Given the description of an element on the screen output the (x, y) to click on. 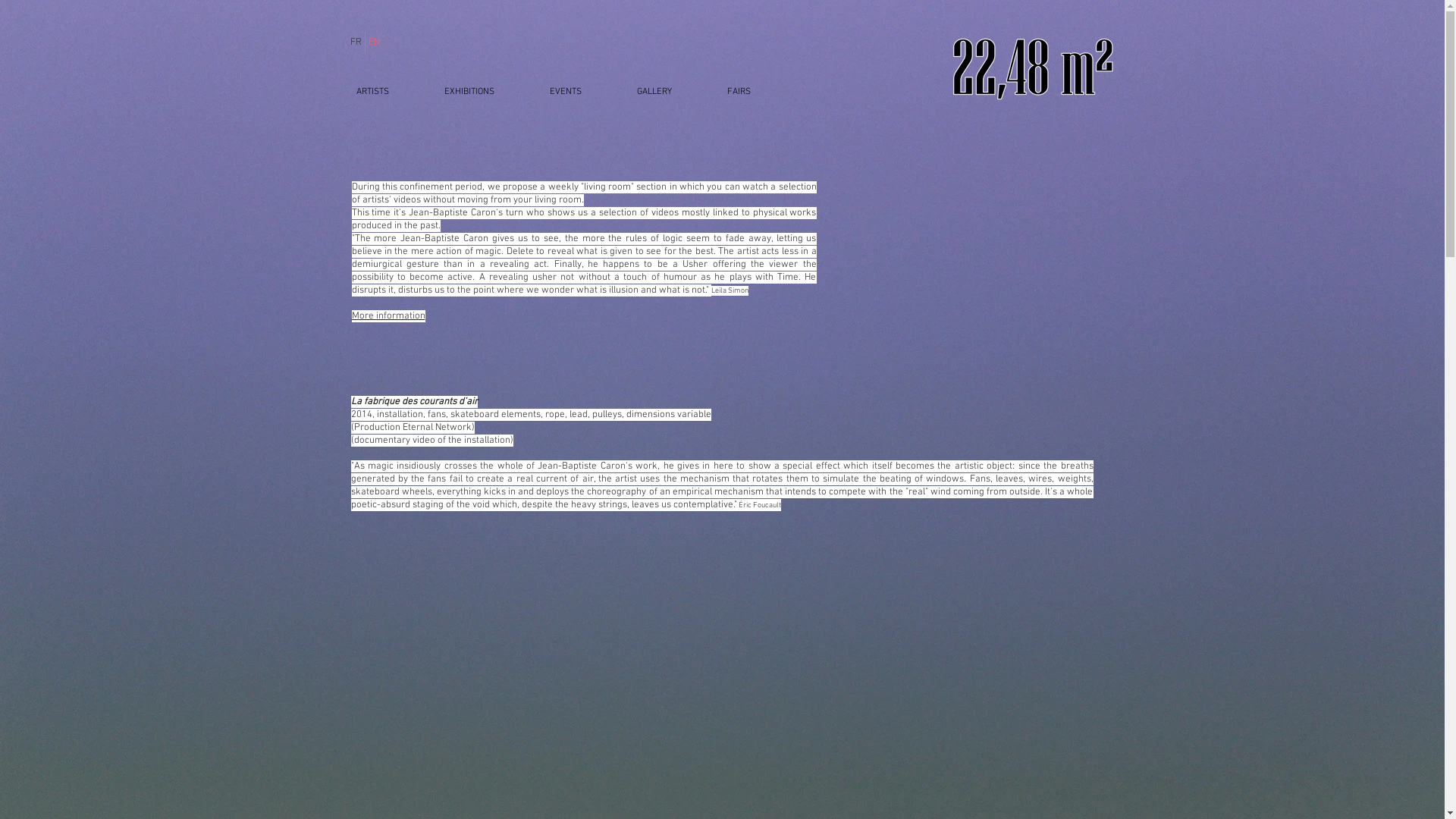
More information Element type: text (388, 314)
FR Element type: text (355, 42)
EVENTS Element type: text (564, 91)
EN Element type: text (373, 42)
GALLERY Element type: text (654, 91)
FAIRS Element type: text (738, 91)
ARTISTS Element type: text (371, 91)
EXHIBITIONS Element type: text (469, 91)
